Given the description of an element on the screen output the (x, y) to click on. 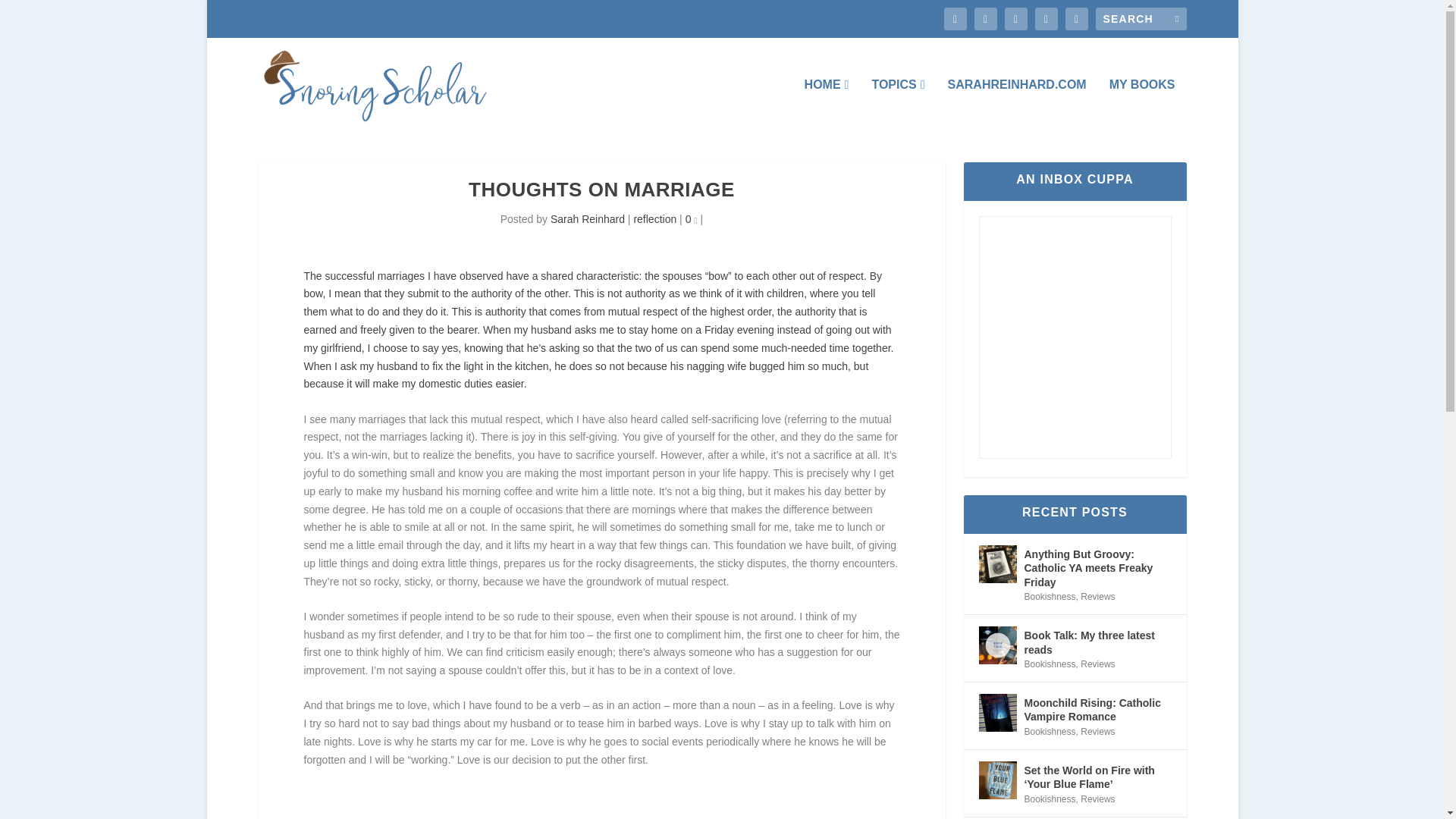
reflection (655, 218)
Posts by Sarah Reinhard (587, 218)
0 (691, 218)
TOPICS (897, 104)
Sarah Reinhard (587, 218)
